Given the description of an element on the screen output the (x, y) to click on. 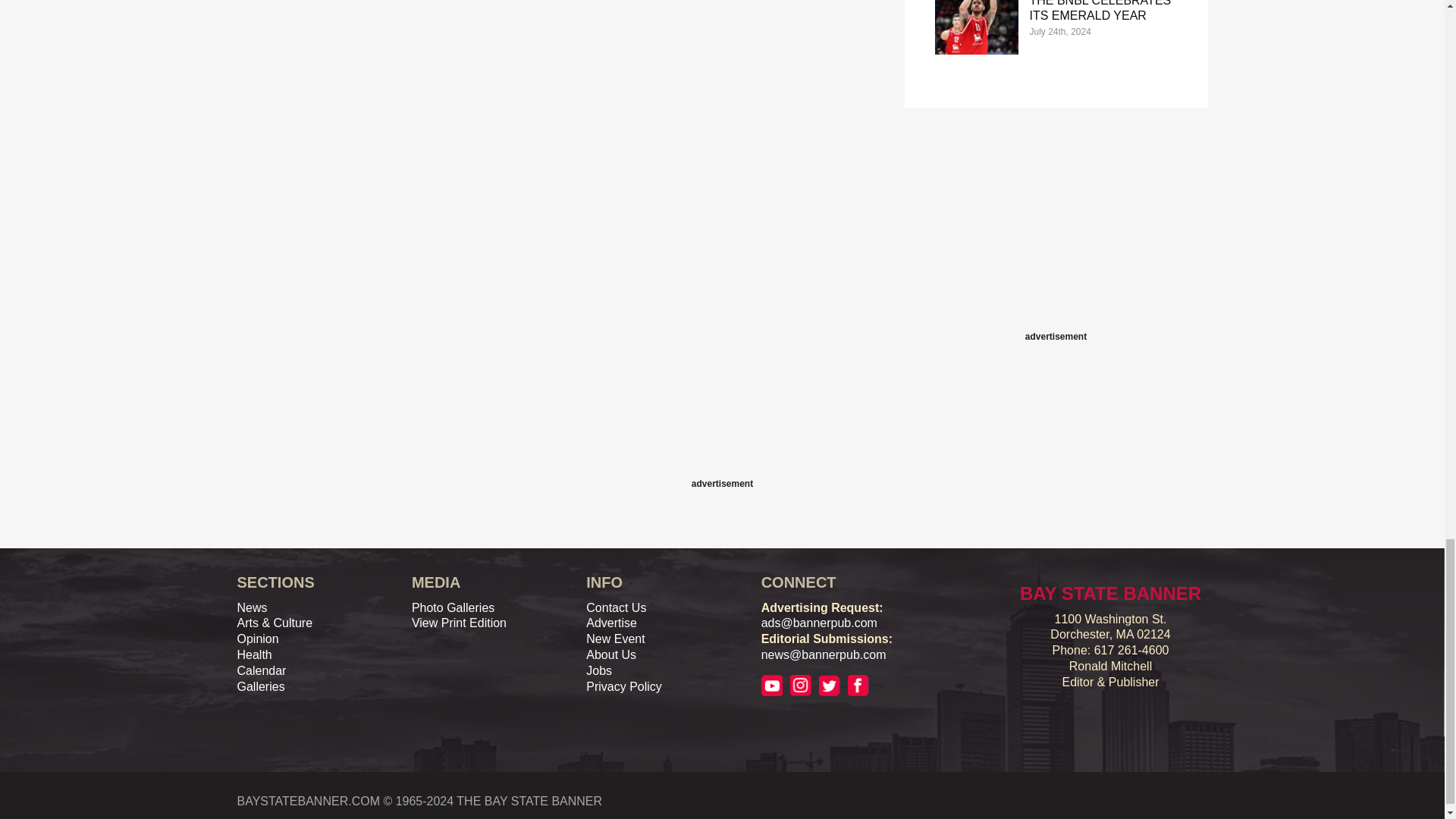
3rd party ad content (721, 440)
3rd party ad content (1055, 232)
